Given the description of an element on the screen output the (x, y) to click on. 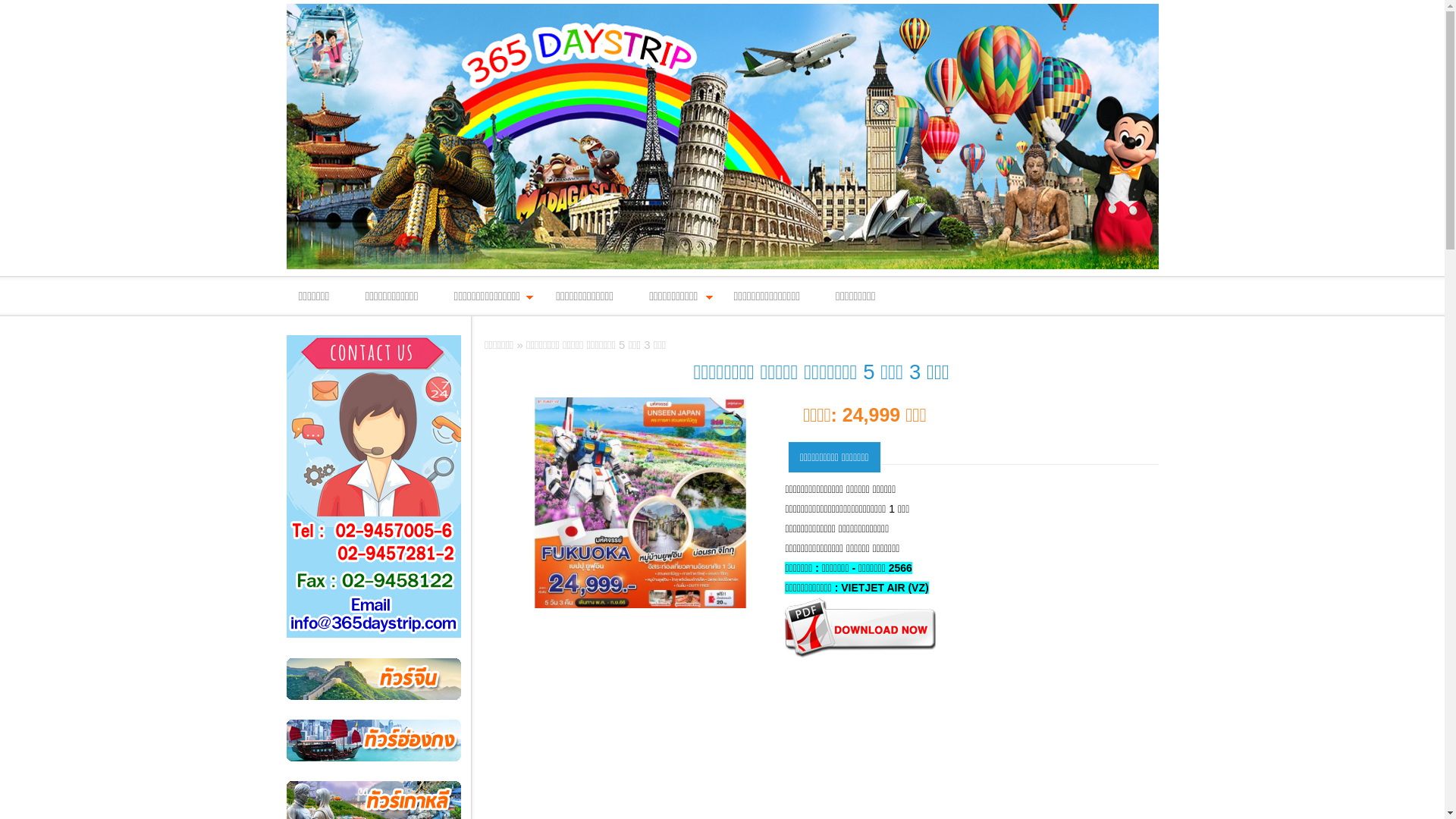
365 Days Trip Co.,Ltd. Element type: hover (722, 136)
